Given the description of an element on the screen output the (x, y) to click on. 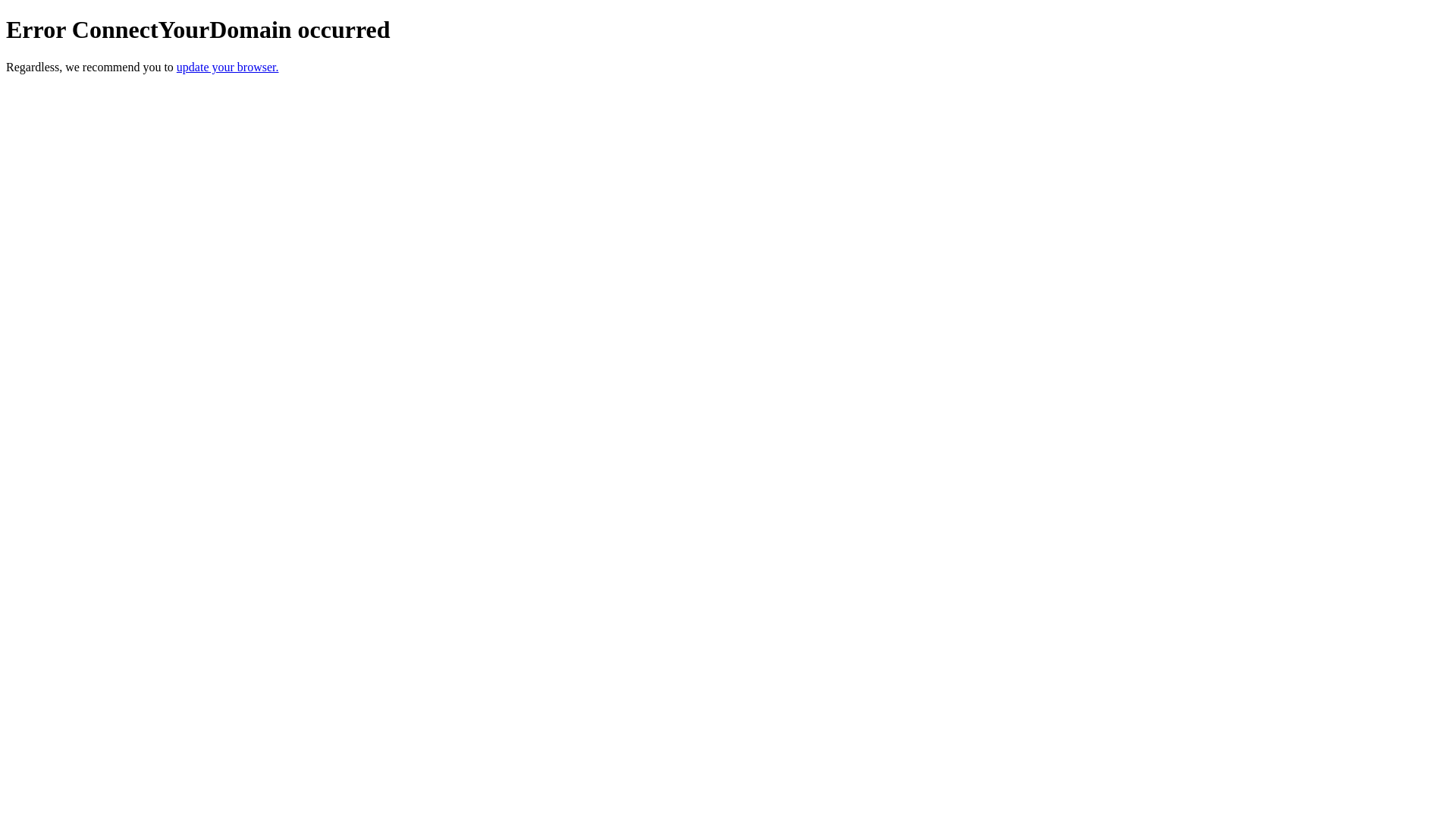
update your browser. Element type: text (227, 66)
